Given the description of an element on the screen output the (x, y) to click on. 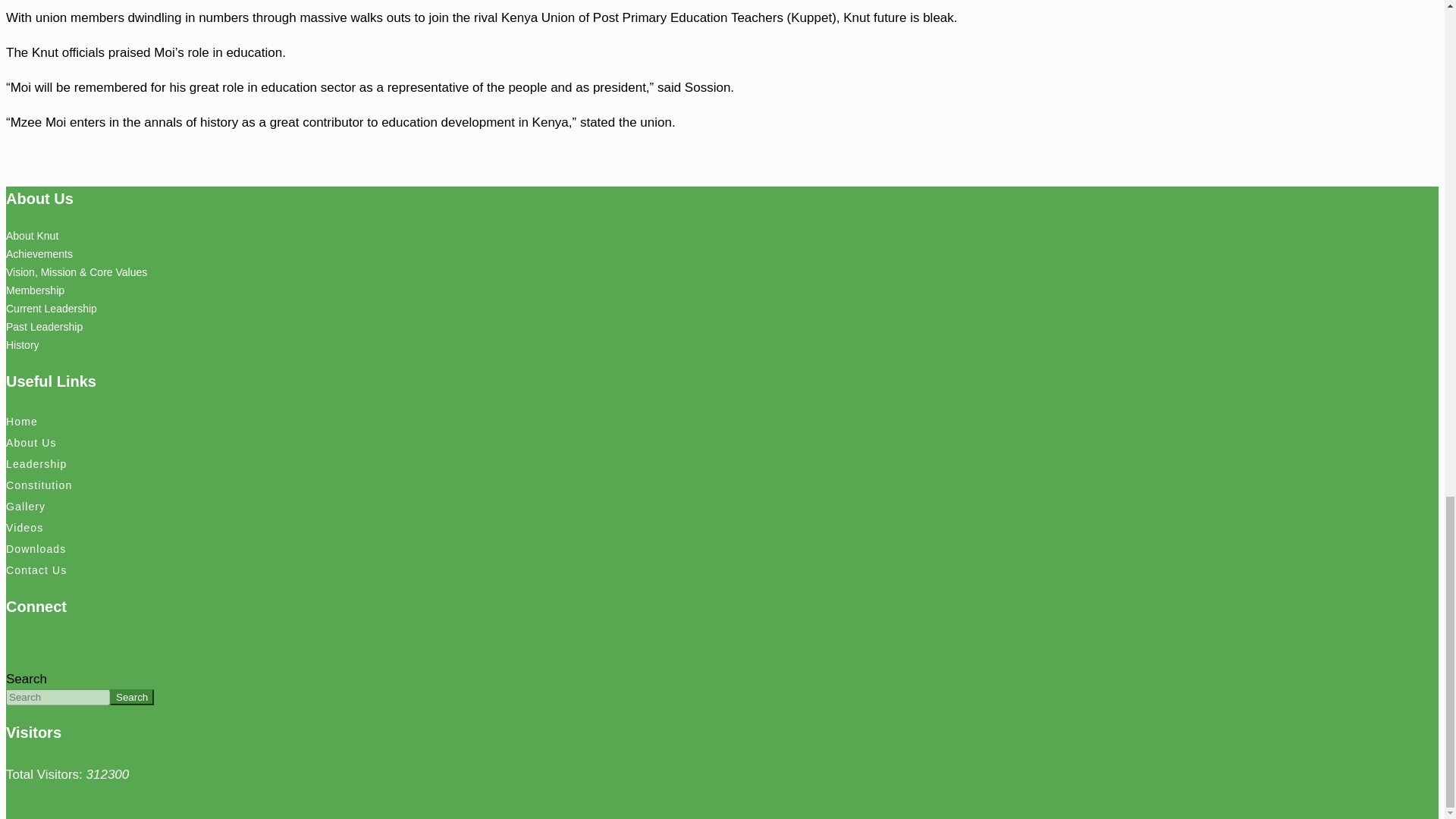
Achievements (38, 254)
About Knut (31, 235)
Membership (34, 290)
Current Leadership (51, 308)
Enter the terms you wish to search for. (57, 697)
Search (132, 697)
Past Leadership (43, 326)
History (22, 345)
